Given the description of an element on the screen output the (x, y) to click on. 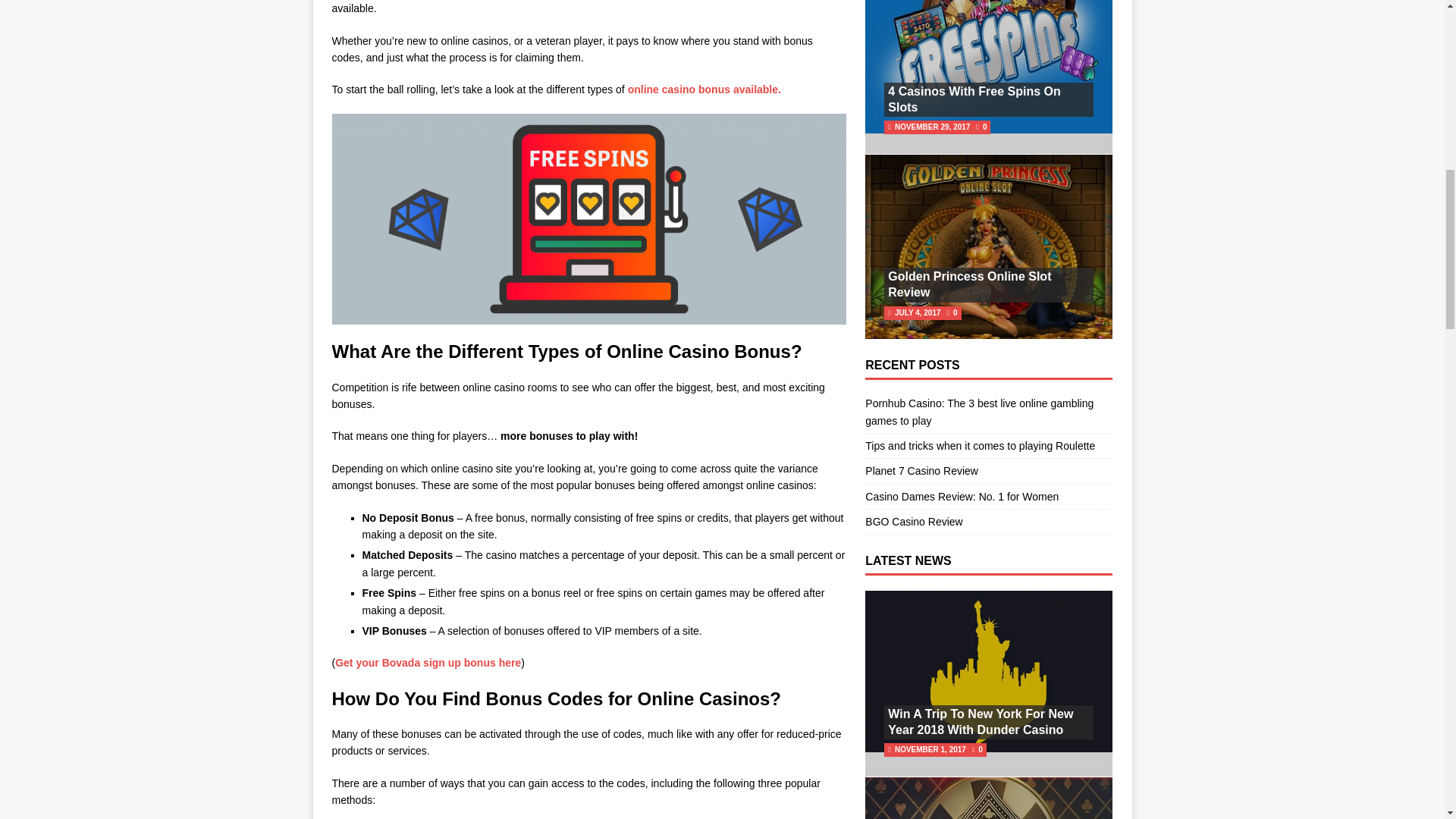
Get your Bovada sign up bonus here (427, 662)
Win A Trip To New York For New Year 2018 With Dunder Casino (980, 721)
online casino bonus available. (703, 89)
Golden Princess Online Slot Review (969, 284)
4 Casinos With Free Spins On Slots (973, 99)
